Given the description of an element on the screen output the (x, y) to click on. 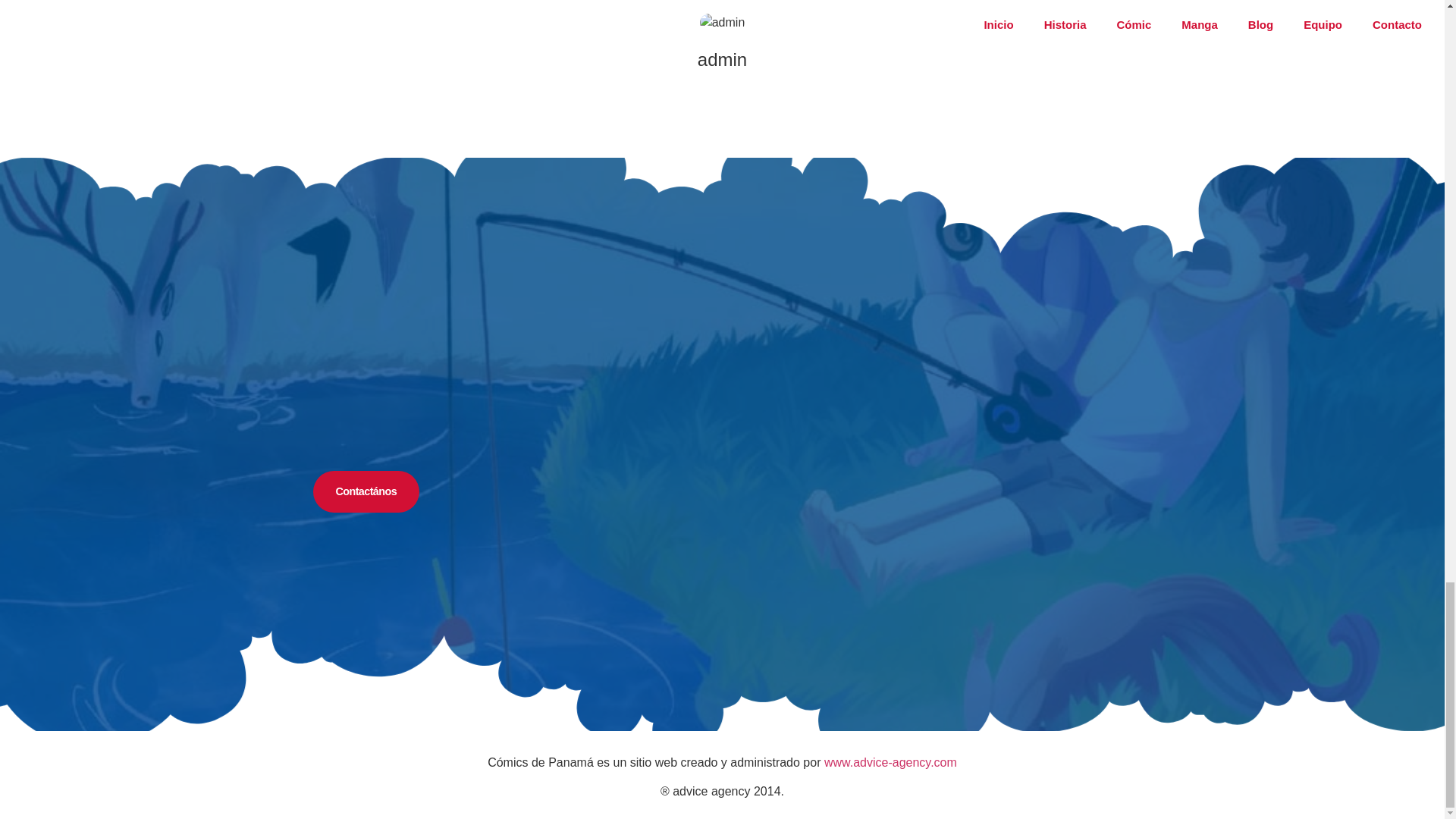
www.advice-agency.com (890, 762)
